Given the description of an element on the screen output the (x, y) to click on. 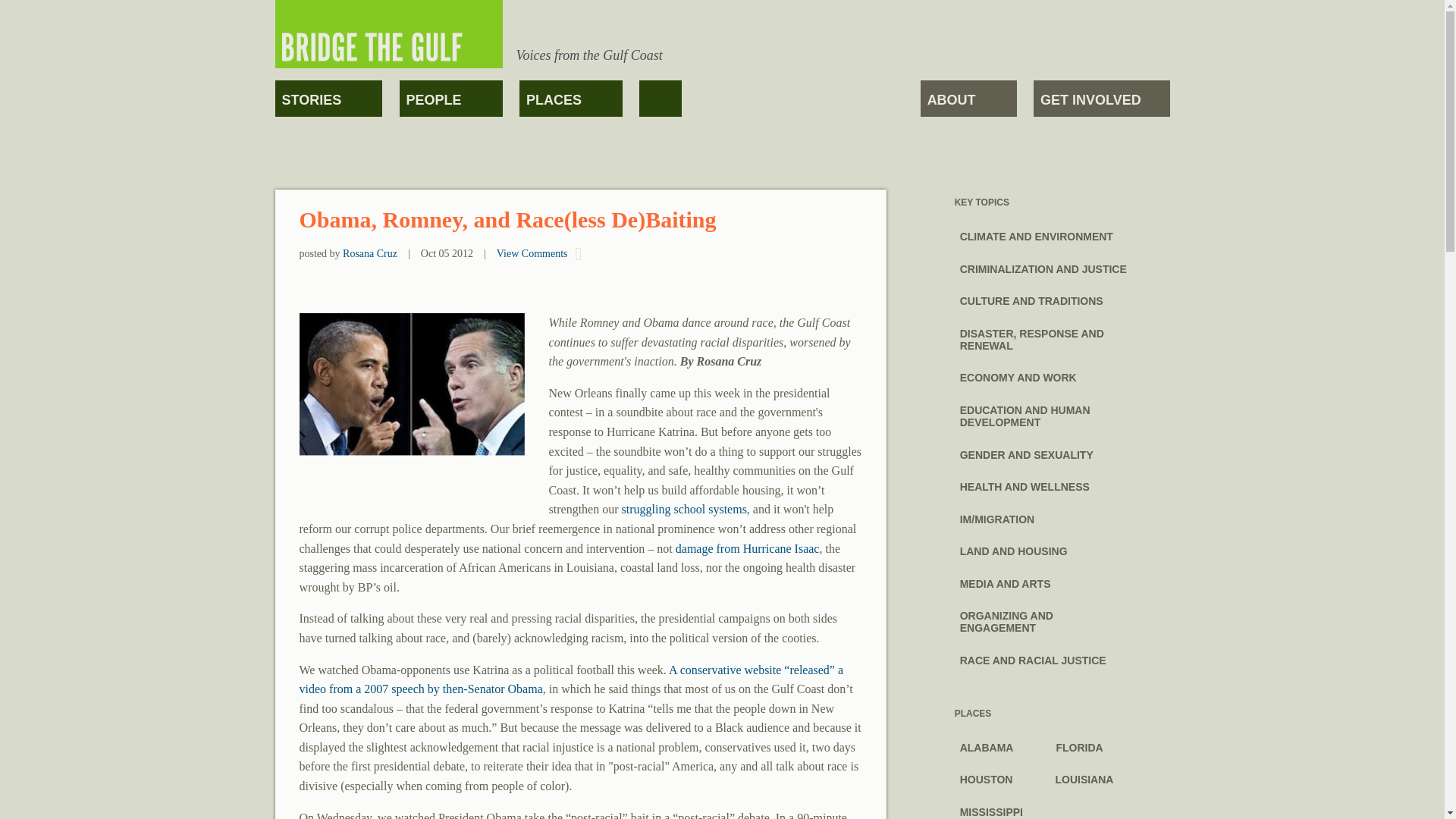
ABOUT (968, 98)
ECONOMY AND WORK (1031, 374)
damage from Hurricane Isaac (747, 548)
About the Project (968, 98)
struggling school systems (683, 508)
View Comments (531, 253)
CULTURE AND TRADITIONS (1045, 298)
People (450, 98)
CRIMINALIZATION AND JUSTICE (1056, 266)
